Given the description of an element on the screen output the (x, y) to click on. 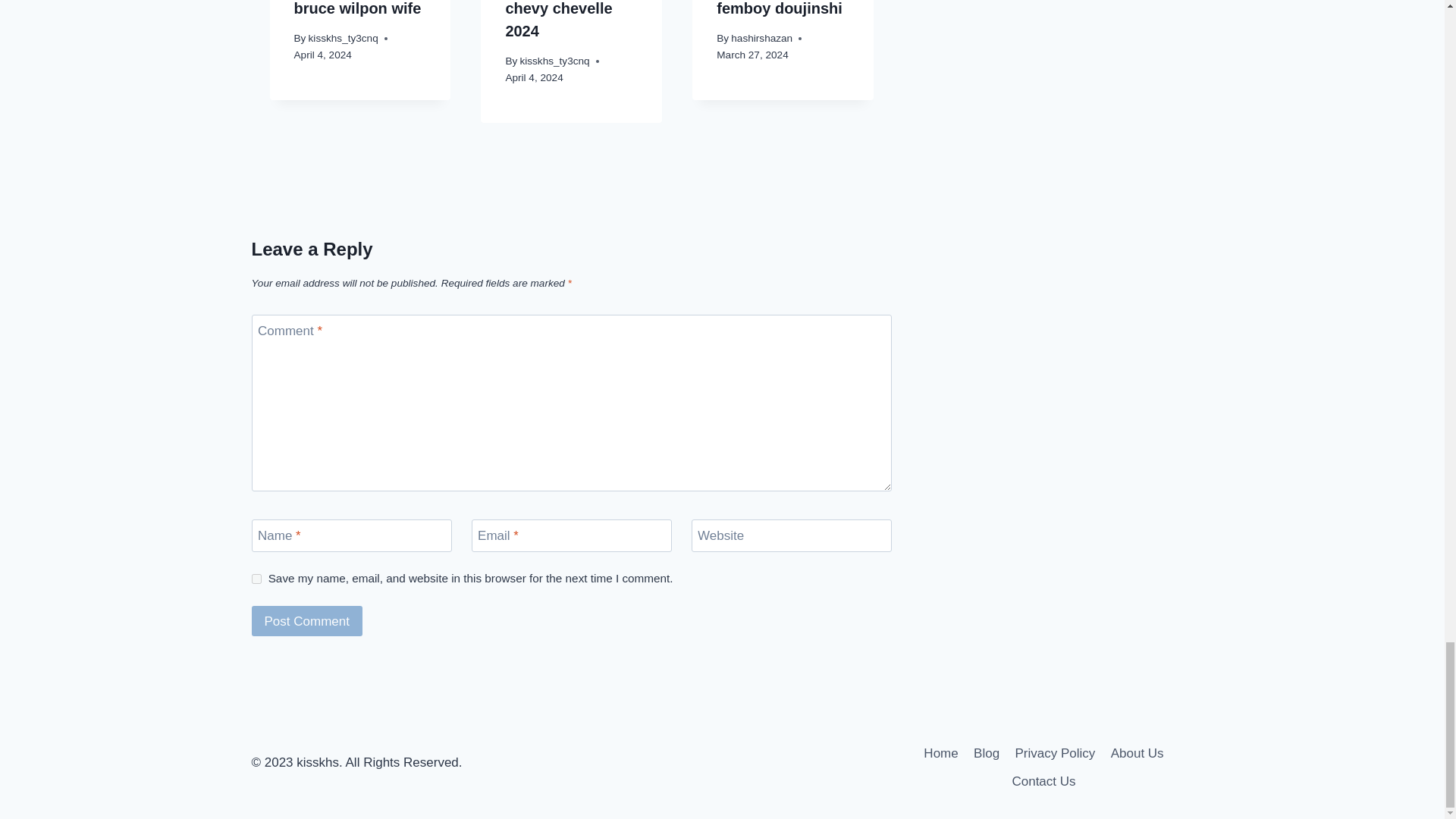
yes (256, 578)
Post Comment (306, 621)
bruce wilpon wife (358, 8)
